Given the description of an element on the screen output the (x, y) to click on. 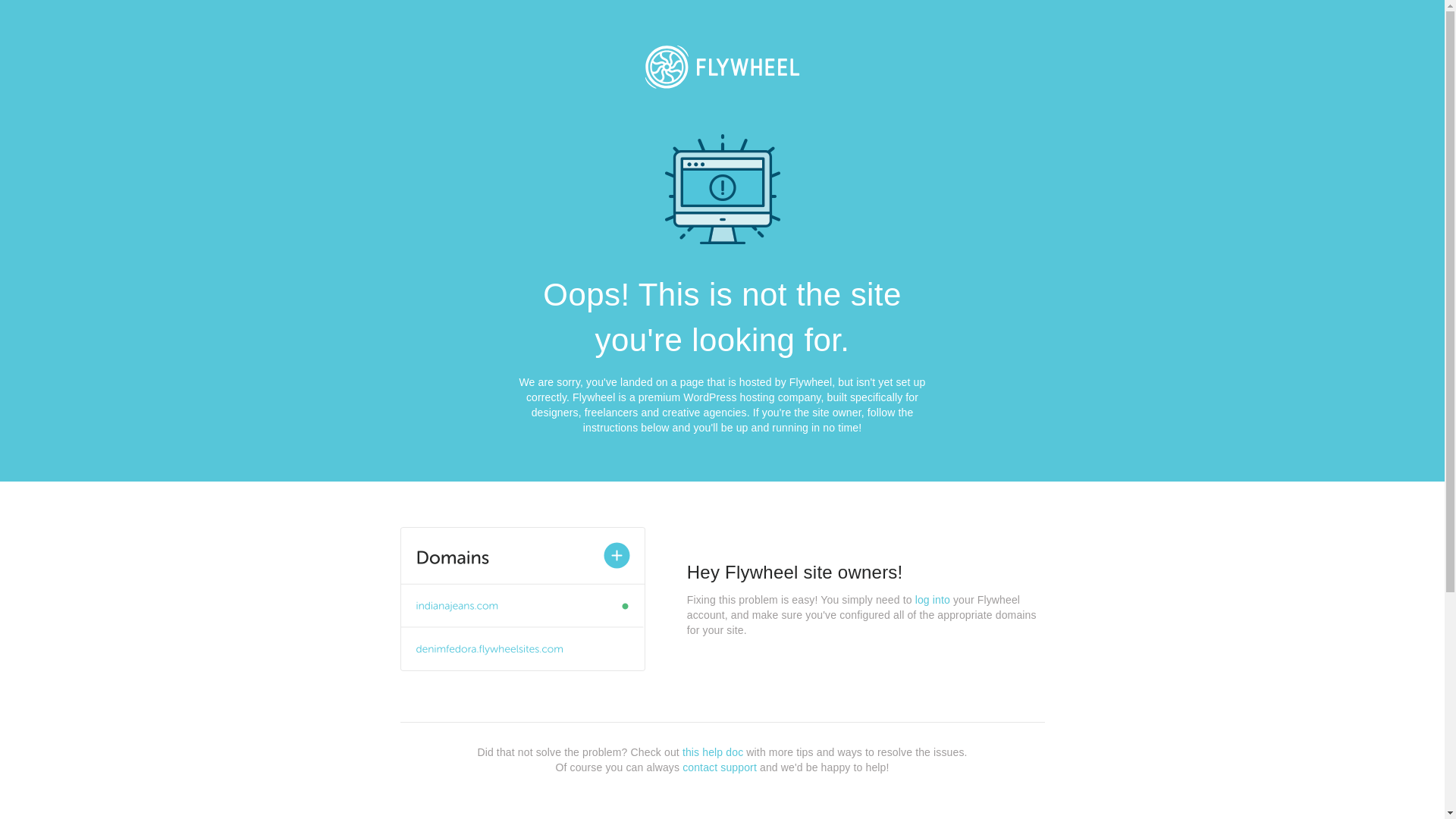
this help doc Element type: text (712, 752)
contact support Element type: text (719, 767)
log into Element type: text (932, 599)
